Given the description of an element on the screen output the (x, y) to click on. 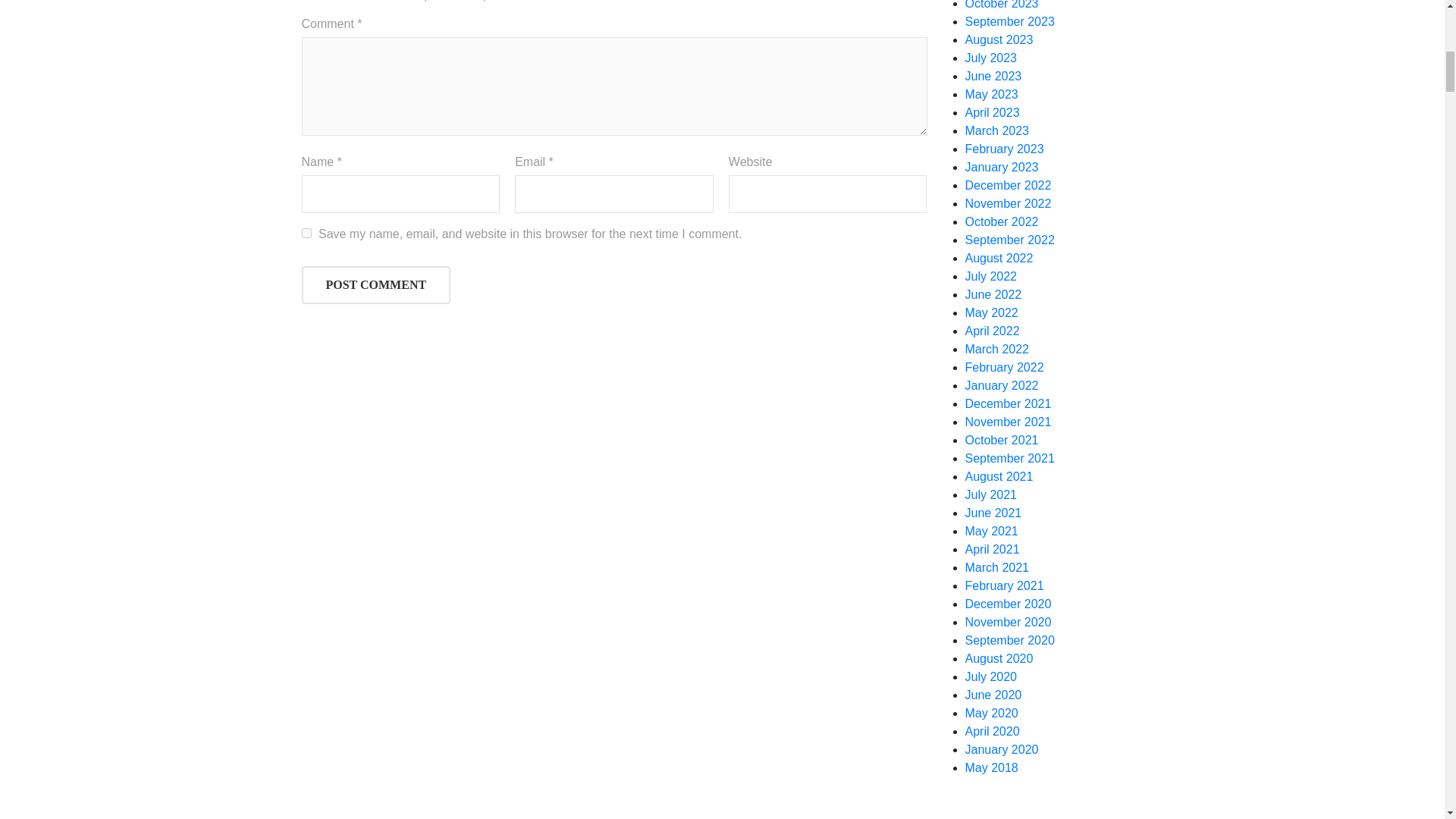
yes (306, 233)
Post Comment (376, 284)
